Given the description of an element on the screen output the (x, y) to click on. 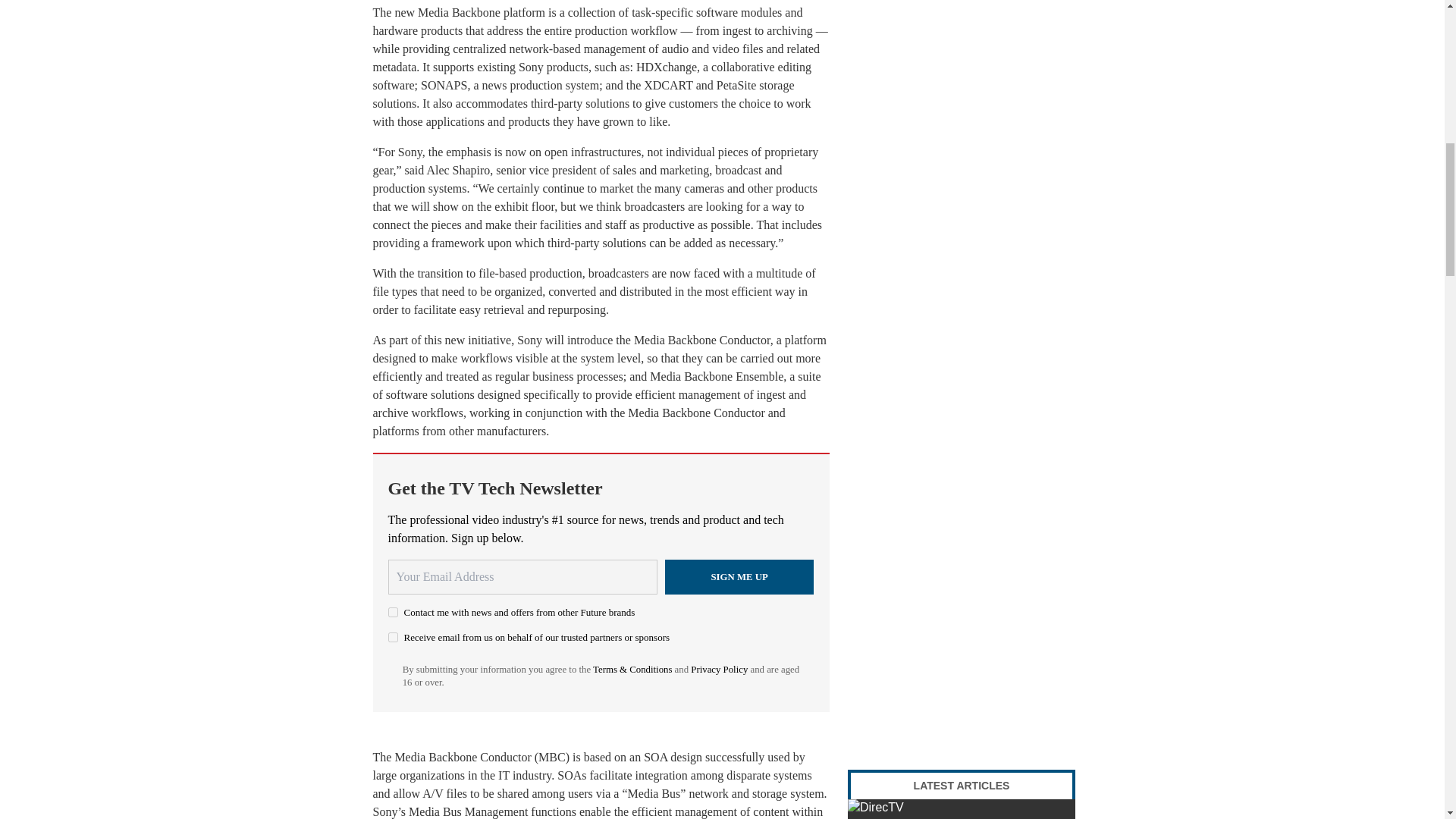
Sign me up (739, 576)
Sign me up (739, 576)
on (392, 612)
on (392, 637)
Disney Stations, ESPN, Other Channels Blacked Out on DirecTV (961, 809)
Privacy Policy (719, 669)
